Given the description of an element on the screen output the (x, y) to click on. 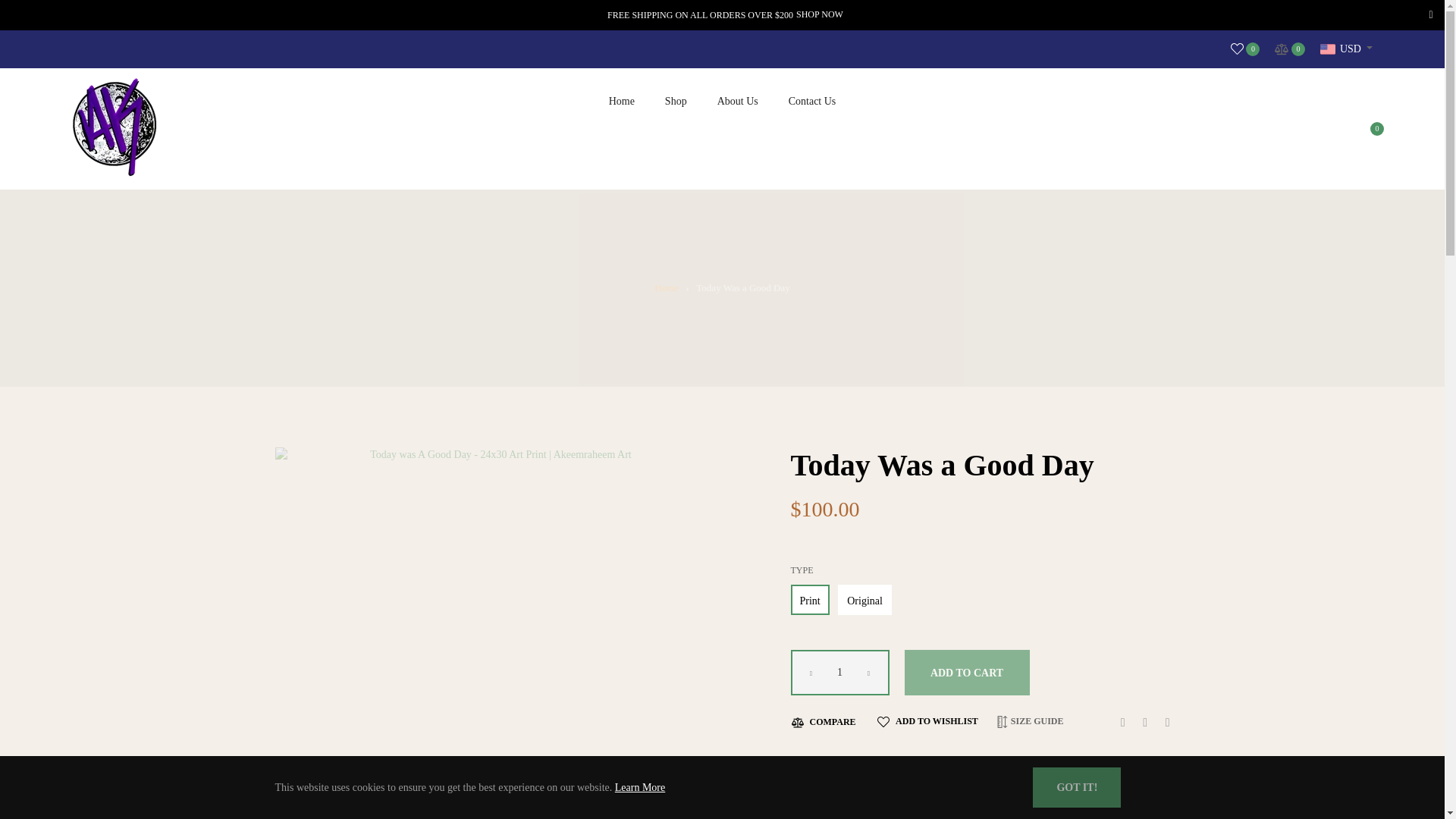
1 (839, 672)
SHOP NOW (819, 15)
Pin on Pinterest (1163, 721)
Tweet on Twitter (1142, 721)
Compare (1289, 49)
0 (1289, 49)
Home (666, 287)
Contact Us (812, 100)
0 (1245, 49)
